Given the description of an element on the screen output the (x, y) to click on. 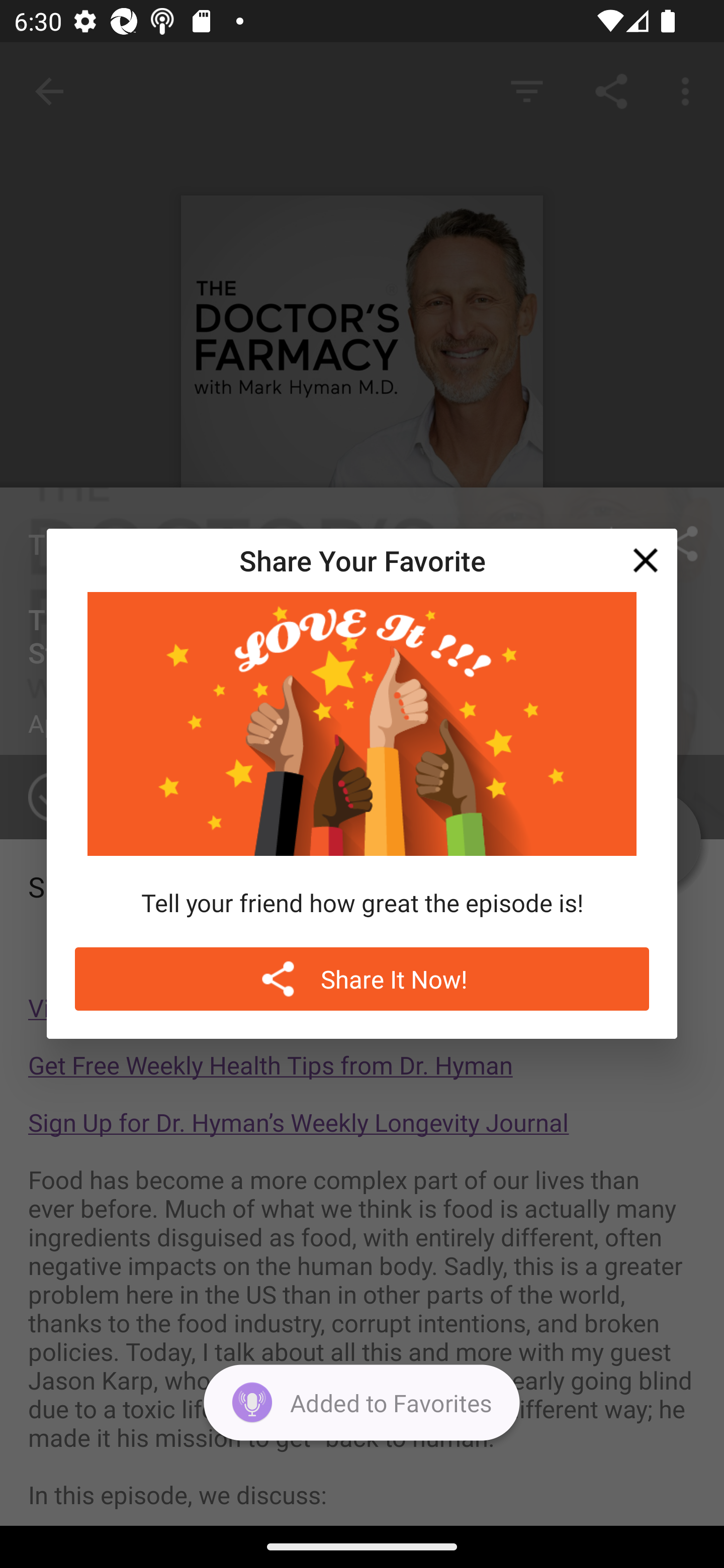
Share It Now! (361, 979)
